Given the description of an element on the screen output the (x, y) to click on. 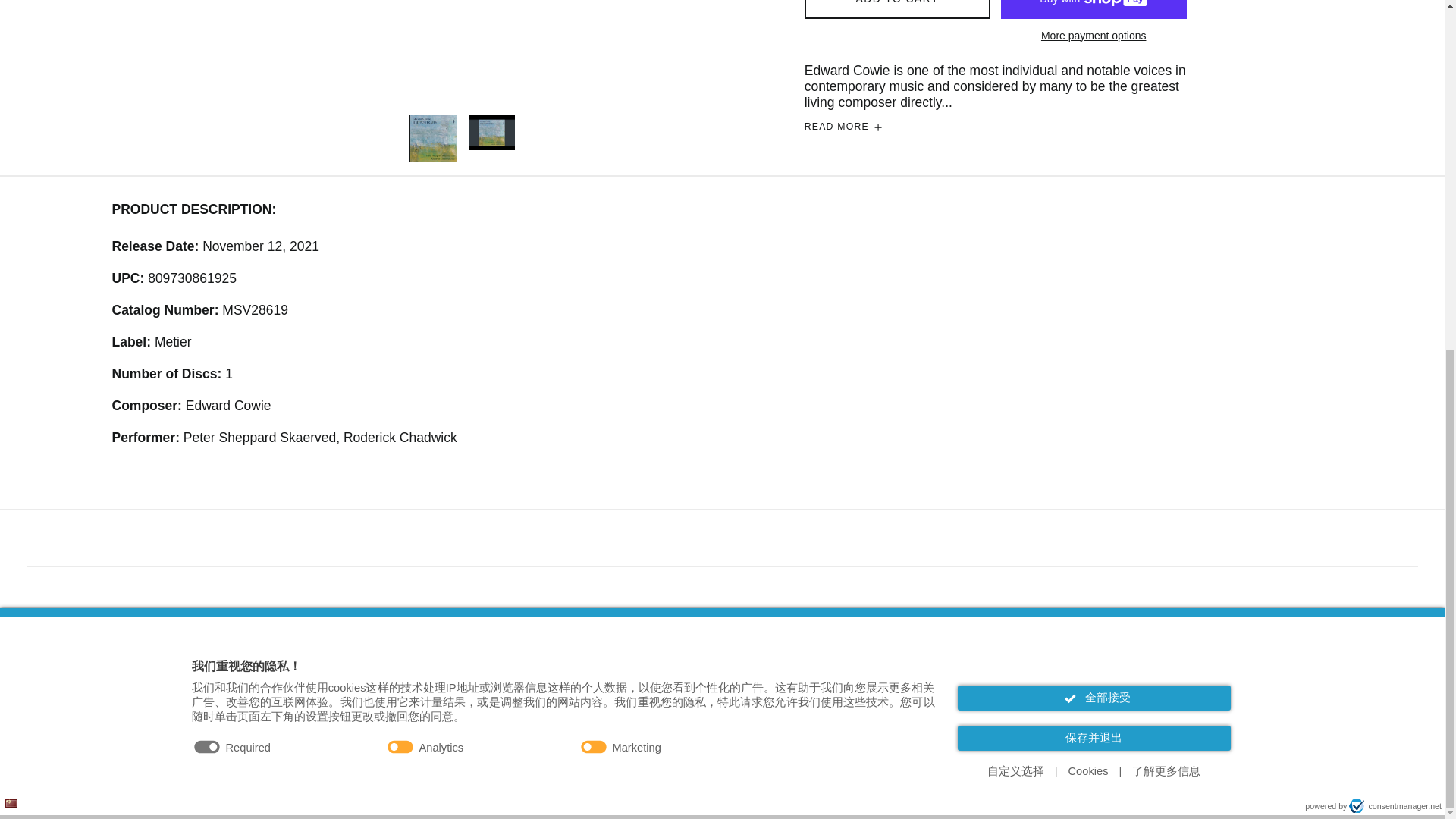
Language: zh (11, 198)
consentmanager.net (1395, 200)
Language: zh (11, 198)
Cookies (1088, 166)
